Given the description of an element on the screen output the (x, y) to click on. 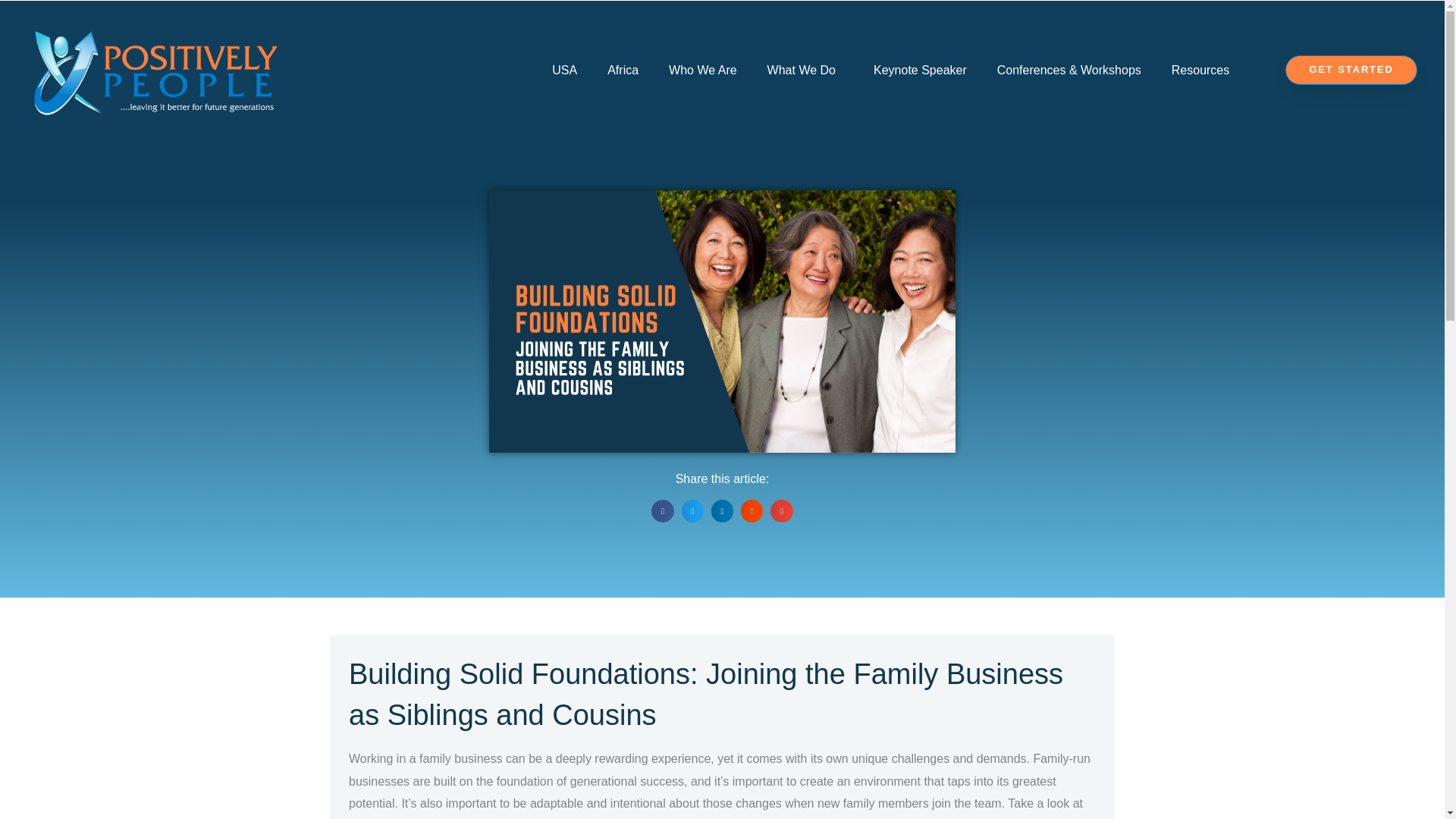
Resources (1204, 70)
Keynote Speaker (920, 70)
What We Do (805, 70)
GET STARTED (1350, 70)
USA (564, 70)
Africa (622, 70)
Who We Are (702, 70)
